Given the description of an element on the screen output the (x, y) to click on. 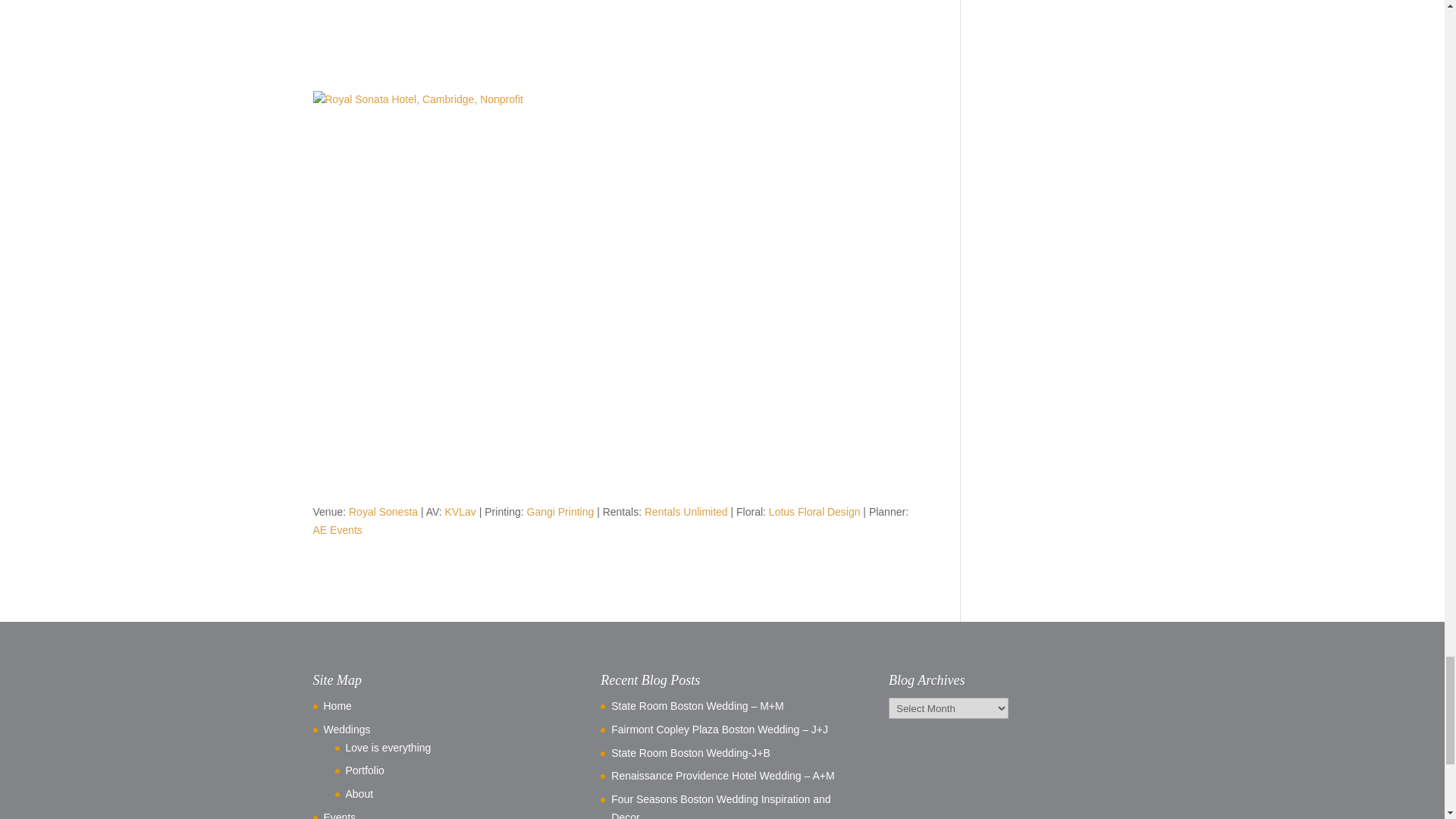
Weddings (346, 729)
Royal Sonesta (383, 511)
KVLav (460, 511)
Gangi Printing (560, 511)
Lotus Floral Design (814, 511)
Rentals Unlimited (686, 511)
Home (336, 705)
